Given the description of an element on the screen output the (x, y) to click on. 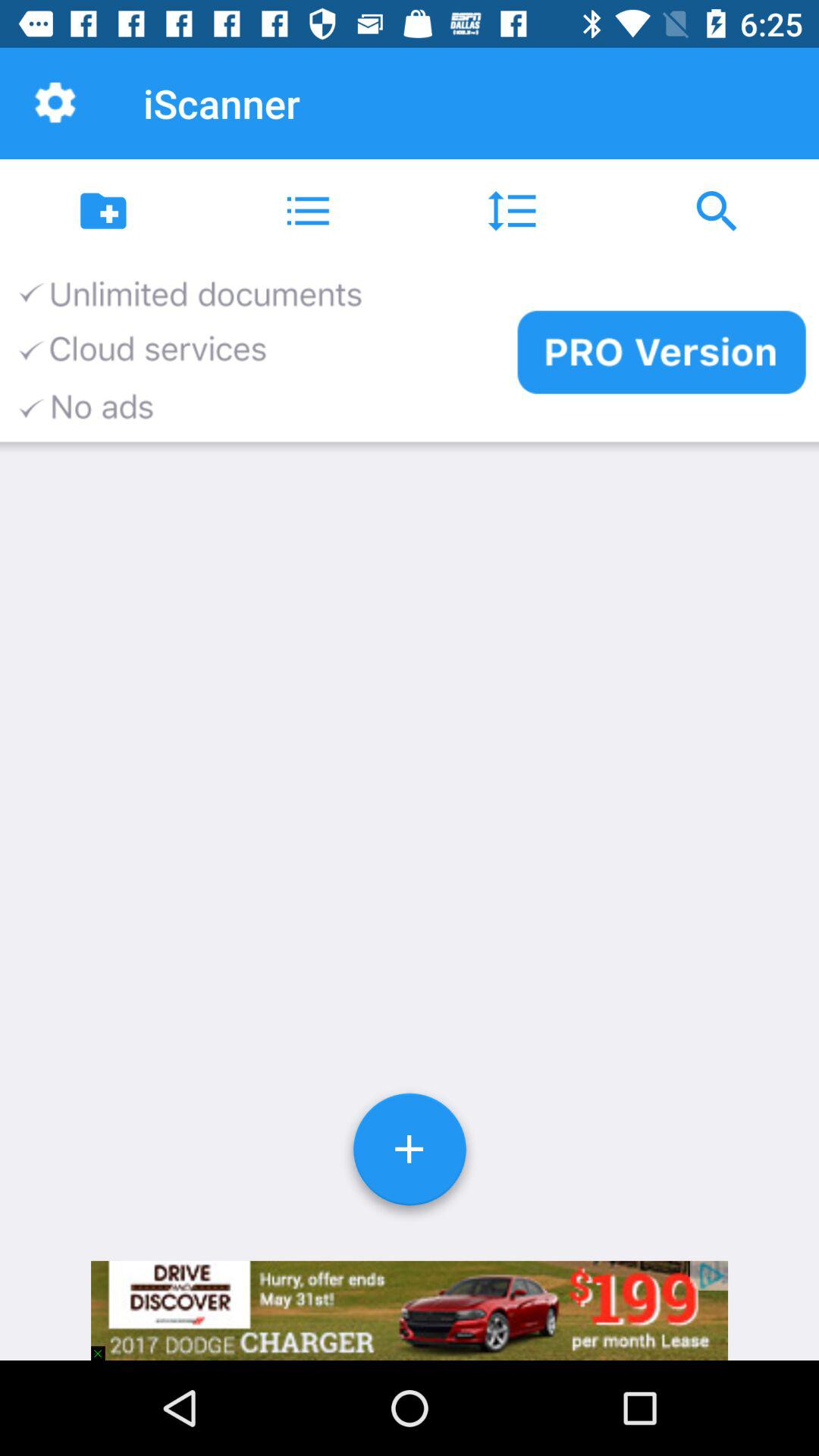
launch the item at the bottom left corner (105, 1346)
